Given the description of an element on the screen output the (x, y) to click on. 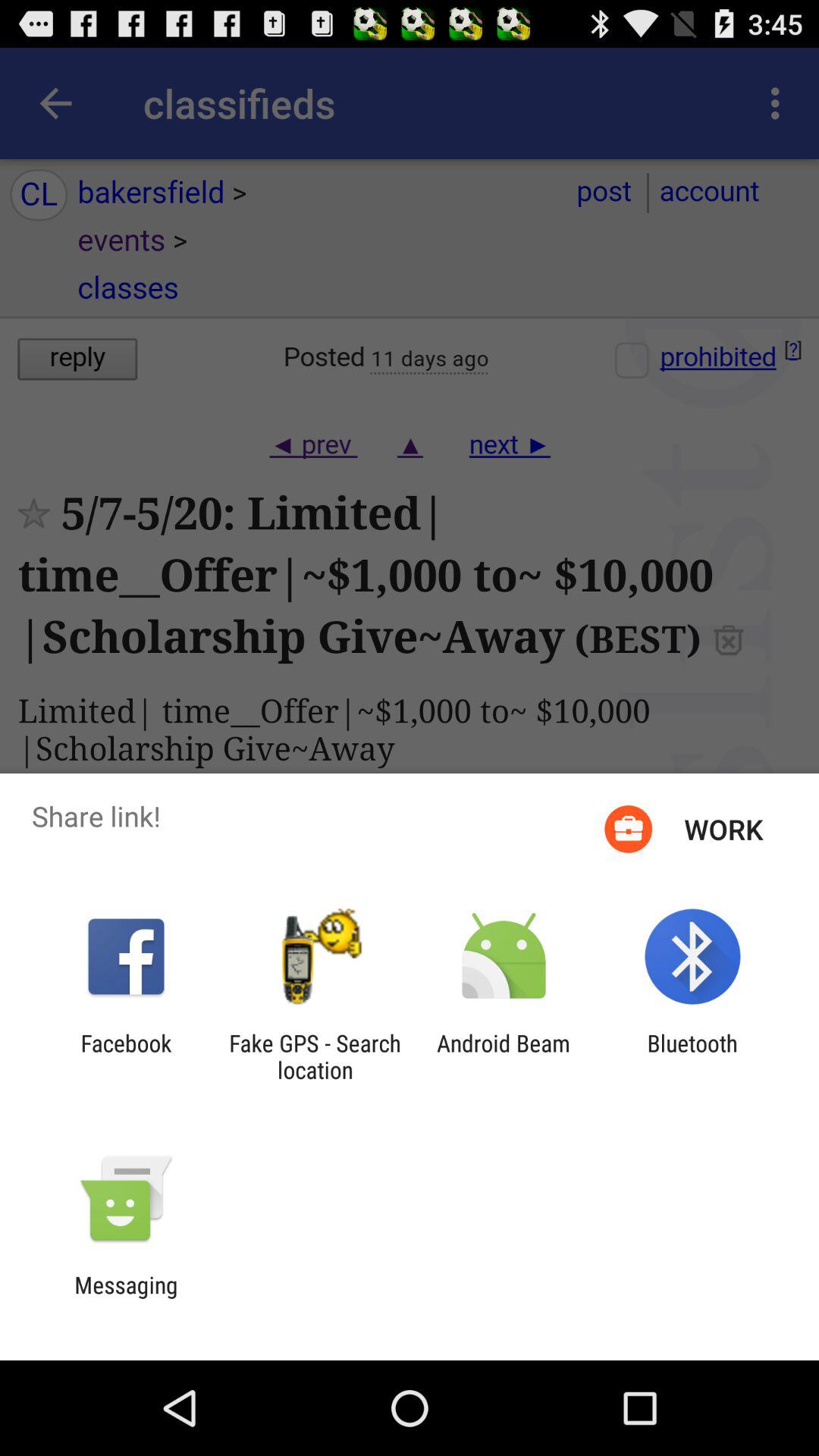
scroll to the fake gps search item (314, 1056)
